Given the description of an element on the screen output the (x, y) to click on. 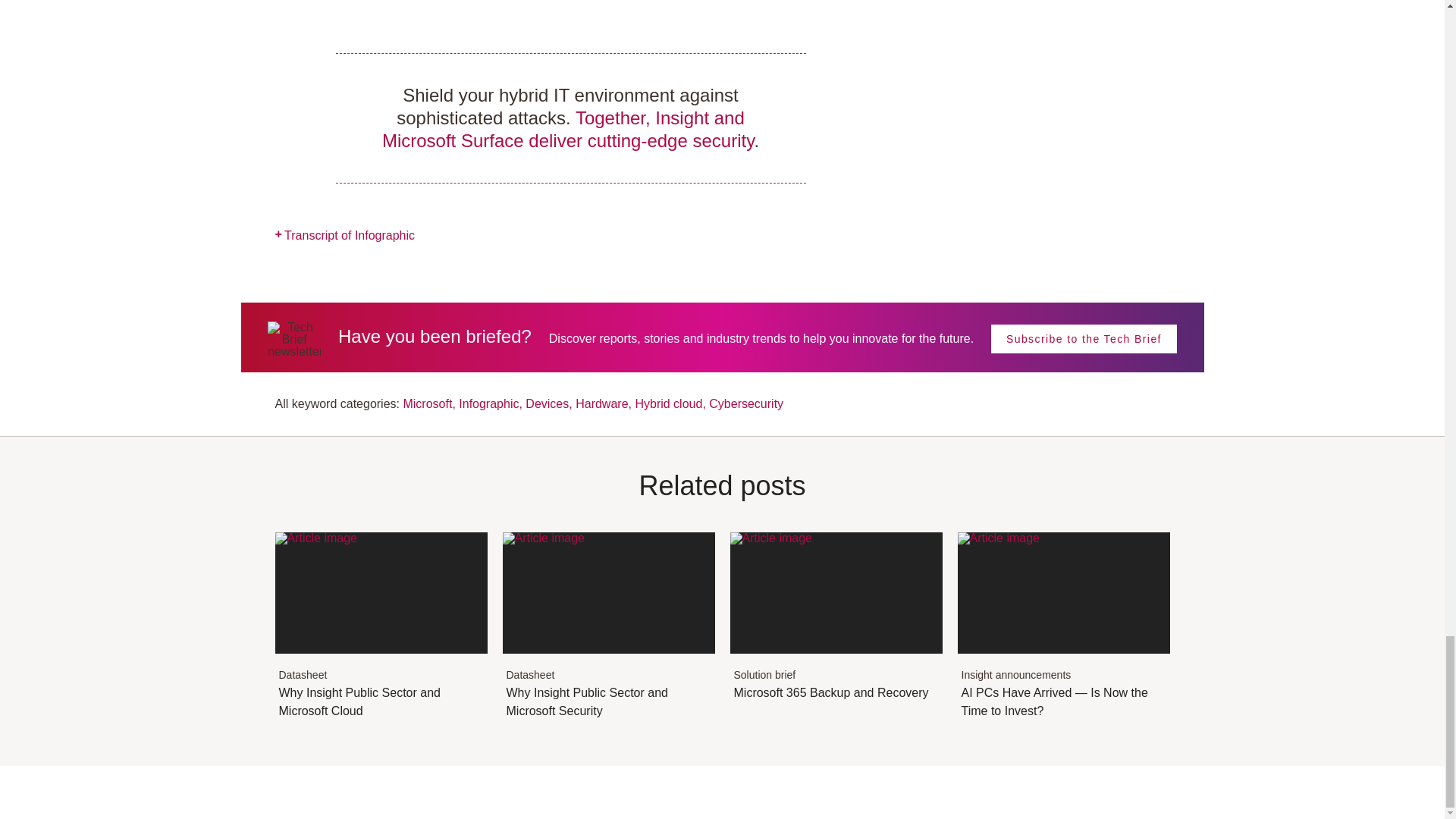
Infographic (490, 403)
Hardware (380, 660)
Microsoft 365 Backup and Recovery  (603, 403)
Why Insight Public Sector and Microsoft Security  (835, 651)
Devices (608, 660)
Subscribe to the Tech Brief (548, 403)
Why Insight Public Sector and Microsoft Cloud (1083, 338)
Microsoft (380, 660)
Hybrid cloud (608, 660)
Cybersecurity (428, 403)
